Given the description of an element on the screen output the (x, y) to click on. 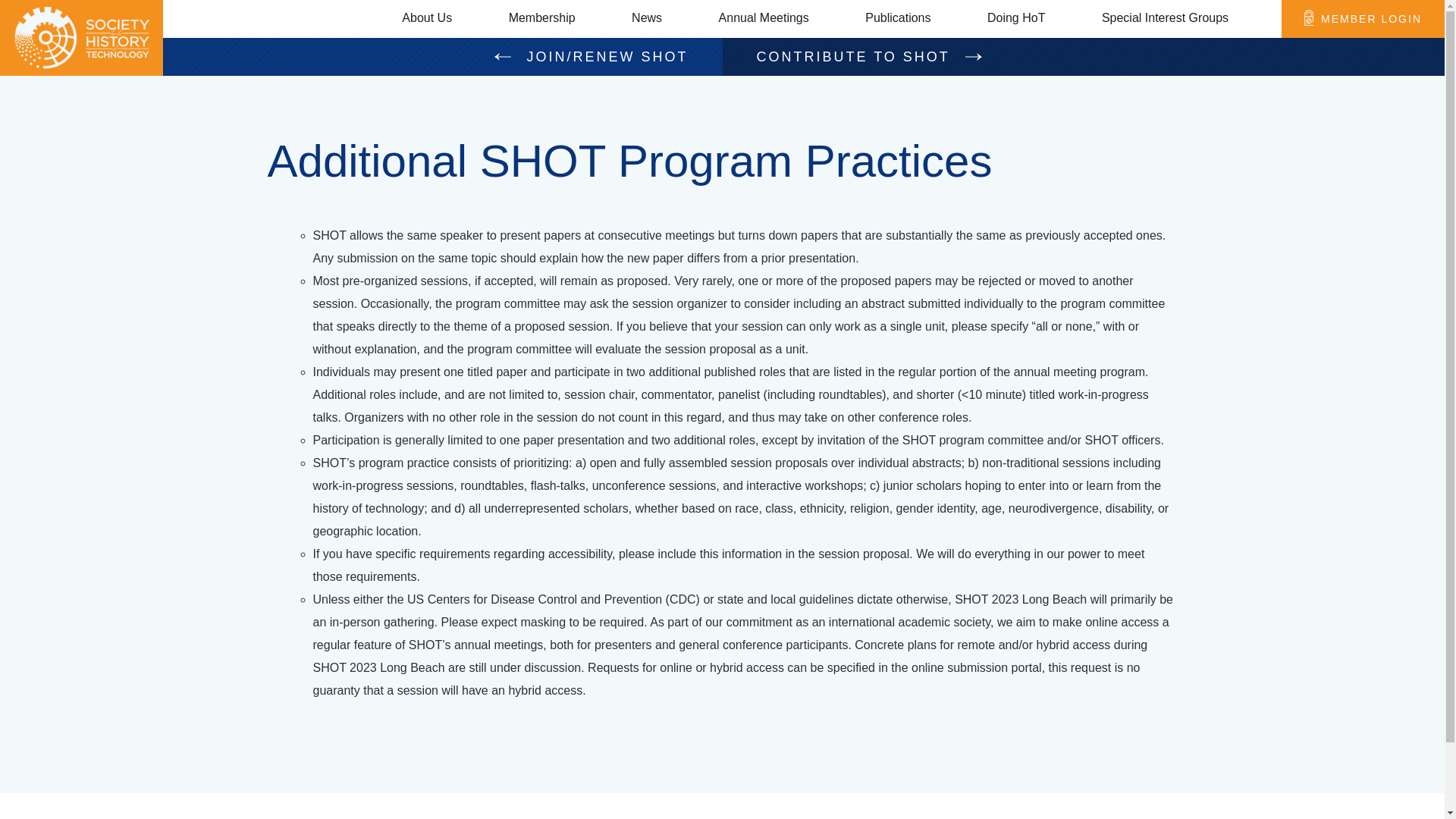
Publications (897, 17)
Doing HoT (1016, 17)
News (646, 17)
About Us (426, 17)
Special Interest Groups (1165, 17)
Annual Meetings (764, 17)
Membership (541, 17)
